Given the description of an element on the screen output the (x, y) to click on. 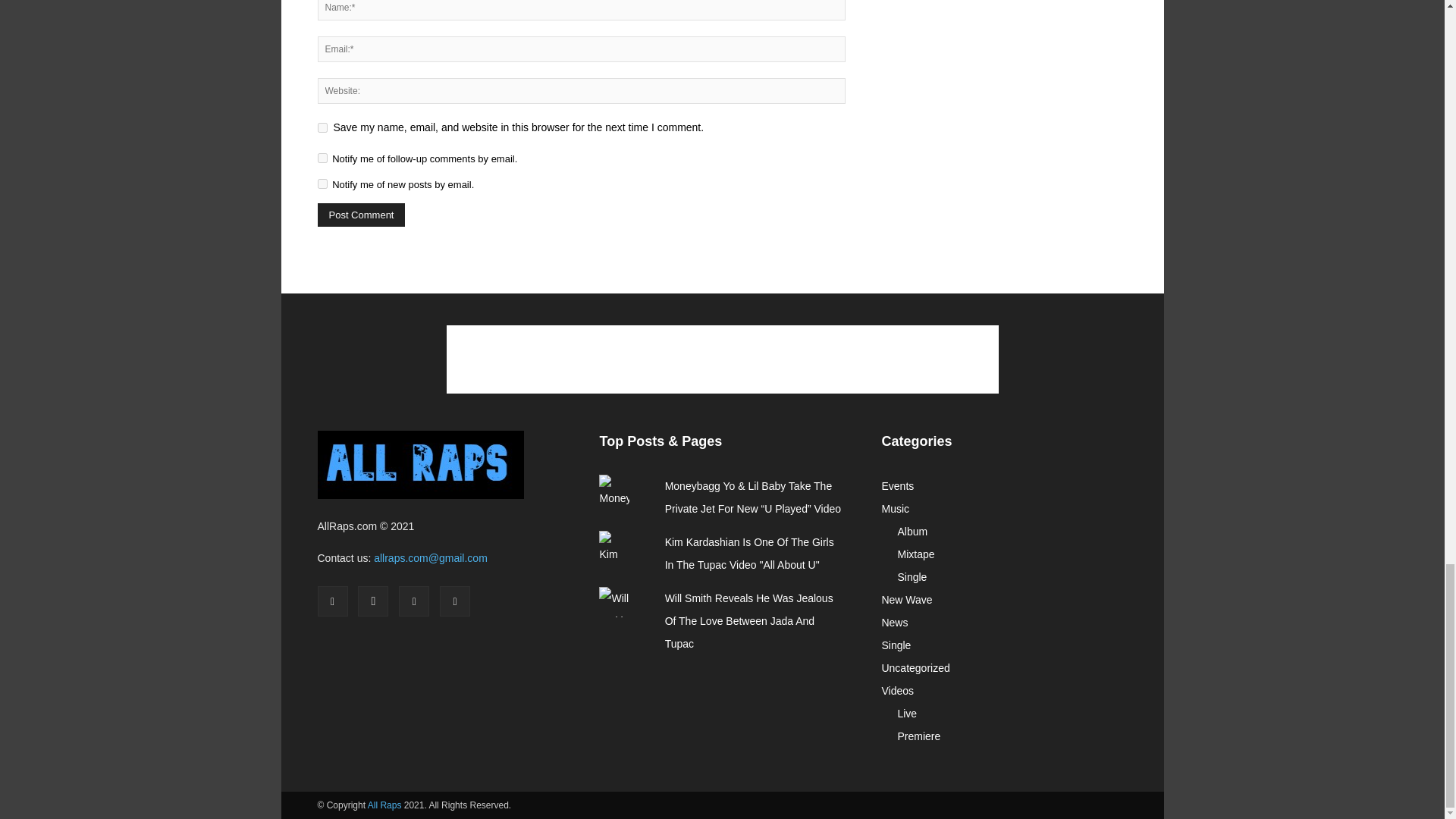
yes (321, 127)
subscribe (321, 157)
subscribe (321, 184)
Post Comment (360, 214)
